Given the description of an element on the screen output the (x, y) to click on. 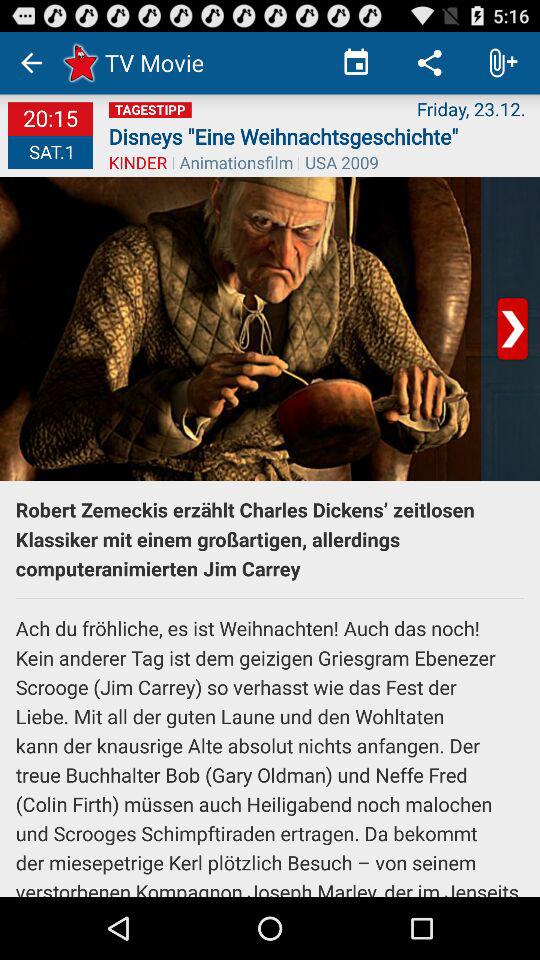
press icon to the right of tv movie (356, 62)
